Given the description of an element on the screen output the (x, y) to click on. 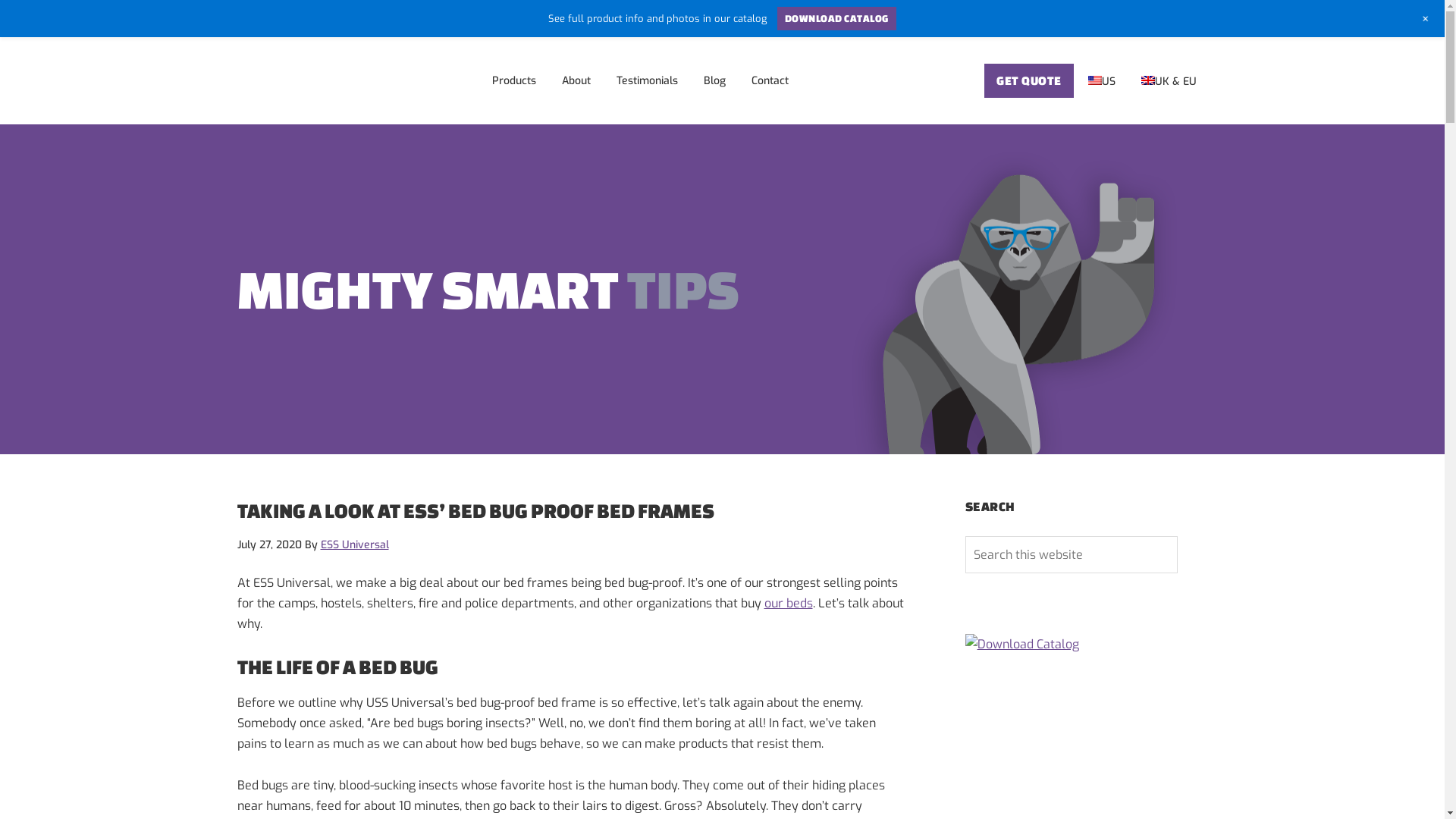
Products Element type: text (513, 78)
About Element type: text (576, 78)
+ Element type: text (1425, 18)
Blog Element type: text (713, 78)
Contact Element type: text (770, 78)
UK & EU Element type: text (1168, 79)
ESS Universal Element type: text (291, 78)
US Element type: text (1101, 79)
GET QUOTE Element type: text (1028, 80)
ESS Universal Element type: text (354, 544)
our beds Element type: text (788, 603)
Skip to main content Element type: text (0, 37)
Search Element type: text (1176, 535)
DOWNLOAD CATALOG Element type: text (835, 18)
Testimonials Element type: text (647, 78)
